Given the description of an element on the screen output the (x, y) to click on. 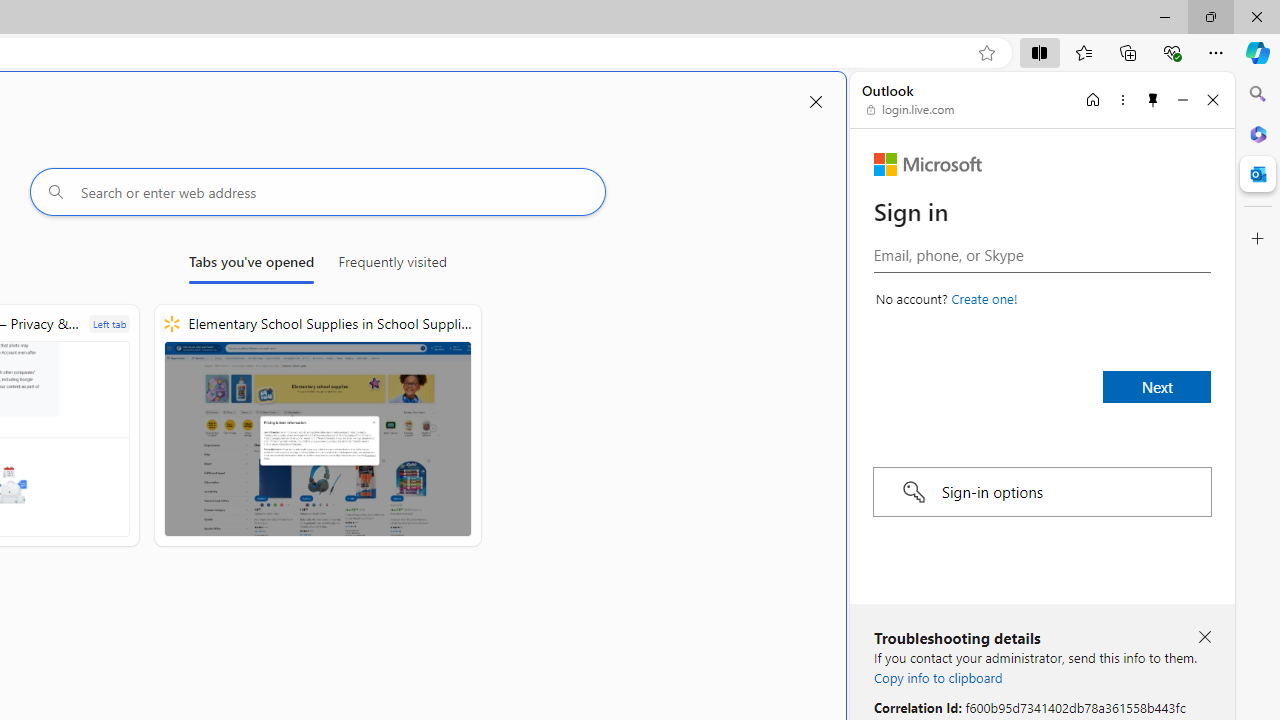
Close troubleshooting details (1204, 636)
Create a Microsoft account (984, 298)
Copilot (Ctrl+Shift+.) (1258, 52)
Copy info to clipboard (938, 677)
Search or enter web address (317, 191)
Home (1093, 99)
Unpin side pane (1153, 99)
Sign-in options (1042, 492)
Close split screen (815, 102)
Next (1156, 386)
Close (1213, 99)
Close Search pane (1258, 94)
Favorites (1083, 52)
Microsoft 365 (1258, 133)
Close troubleshooting details (1204, 637)
